Given the description of an element on the screen output the (x, y) to click on. 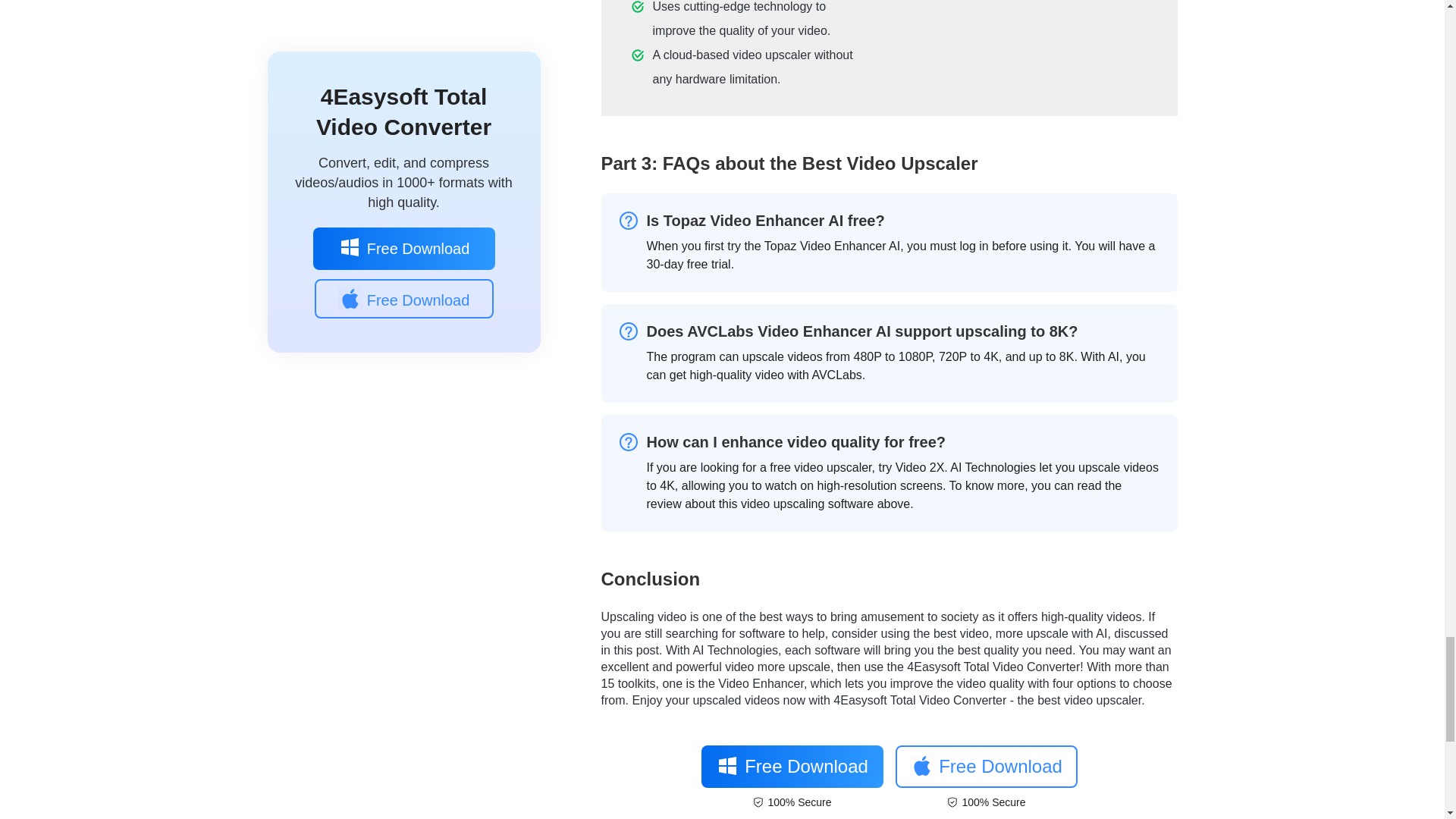
Free Download (986, 766)
Free Download (791, 766)
